Given the description of an element on the screen output the (x, y) to click on. 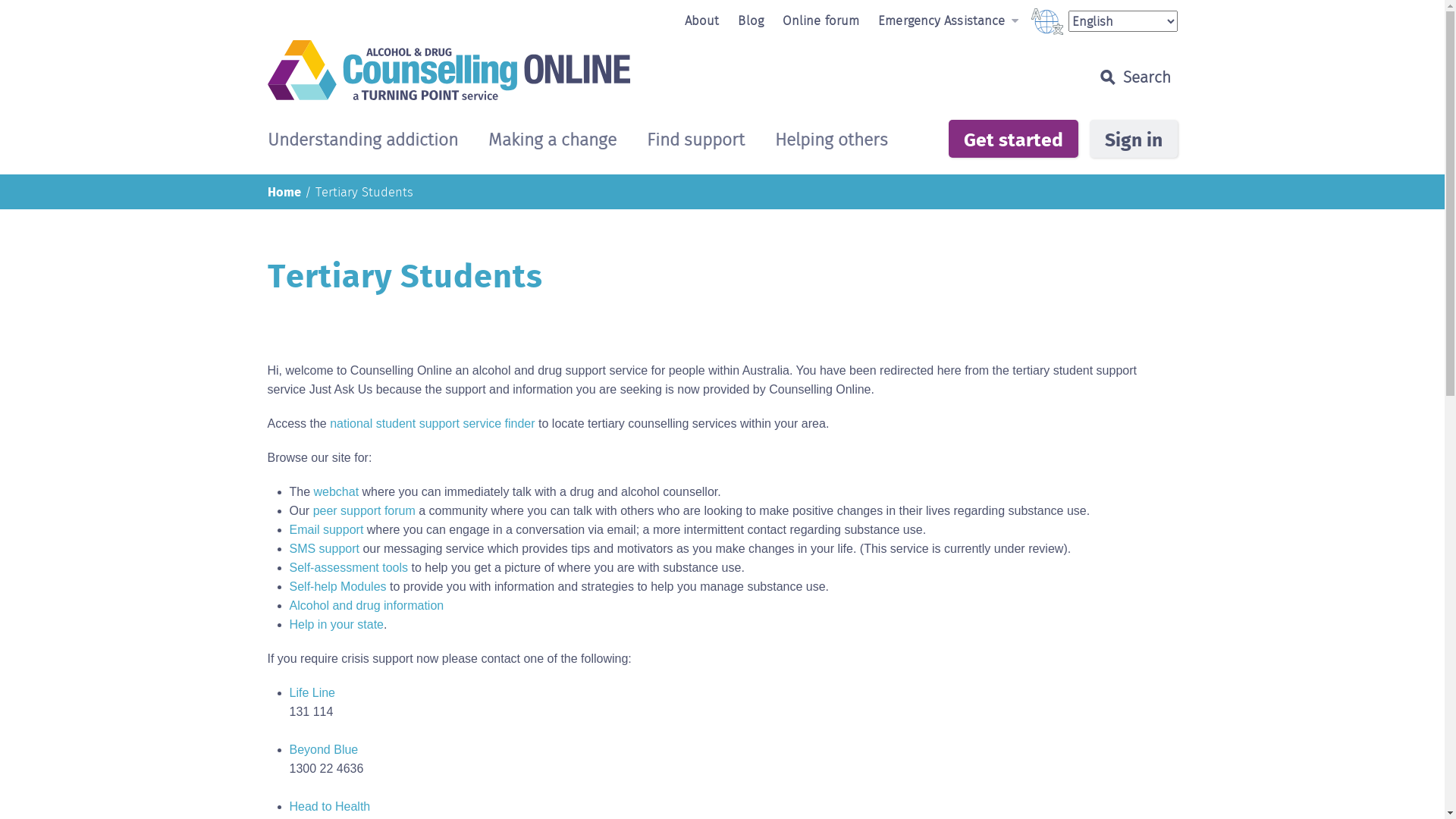
Emergency Assistance Element type: text (948, 20)
Email support Element type: text (326, 529)
Blog Element type: text (749, 20)
Sign in Element type: text (1132, 138)
peer support forum Element type: text (364, 510)
Life Line Element type: text (312, 692)
Tertiary Students Element type: text (364, 191)
Beyond Blue Element type: text (323, 749)
About Element type: text (701, 20)
Home Element type: hover (605, 70)
webchat Element type: text (336, 491)
Understanding addiction Element type: text (361, 140)
Online forum Element type: text (820, 20)
Helping others Element type: text (831, 140)
Home Element type: text (283, 190)
Head to Health Element type: text (329, 806)
Self-assessment tools Element type: text (348, 567)
Get started Element type: text (1012, 138)
Making a change Element type: text (552, 140)
Help in your state Element type: text (336, 624)
national student support service finder Element type: text (431, 423)
Self-help Modules Element type: text (337, 586)
SMS support Element type: text (324, 548)
Skip to main content Element type: text (0, 0)
Find support Element type: text (694, 140)
Alcohol and drug information Element type: text (366, 605)
